Given the description of an element on the screen output the (x, y) to click on. 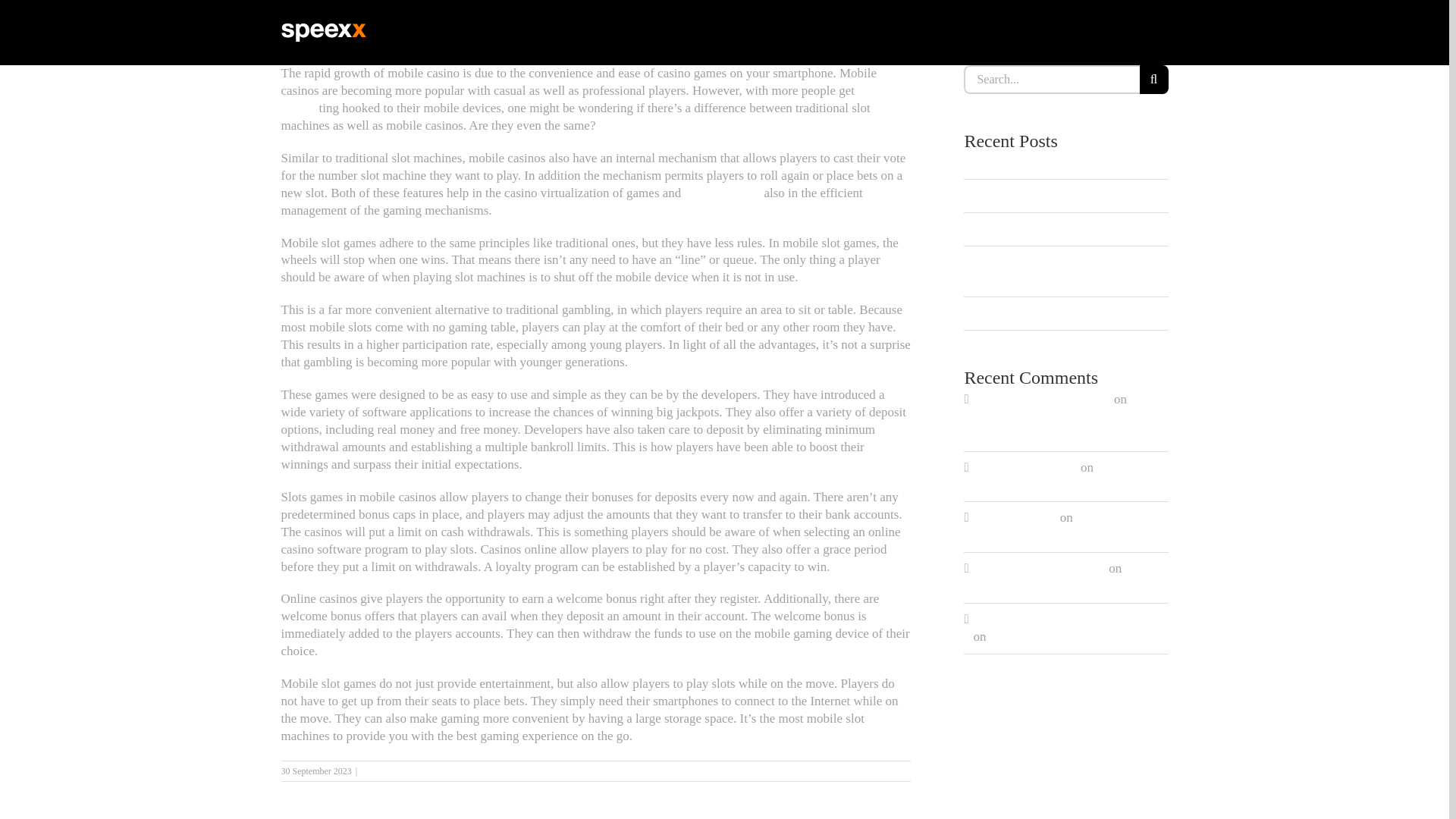
youtube to mp3 free (1024, 467)
Free Slots Without Download (1049, 526)
Free Slots Without Download (1060, 476)
Buksan ang isang Binance account (1062, 618)
The value of Board Rooms (1058, 576)
Uncategorized (387, 770)
clip downloader (1014, 517)
Play Free Slot Machines For Fun (1057, 228)
booi cassino (580, 99)
temporary email addresses (1040, 399)
bet365 cassino (722, 192)
Play Free Slot Games to have fun in your Own Home (1066, 416)
Custom Essay Writing Services (1053, 162)
Libreng Binance Account (1038, 568)
